Given the description of an element on the screen output the (x, y) to click on. 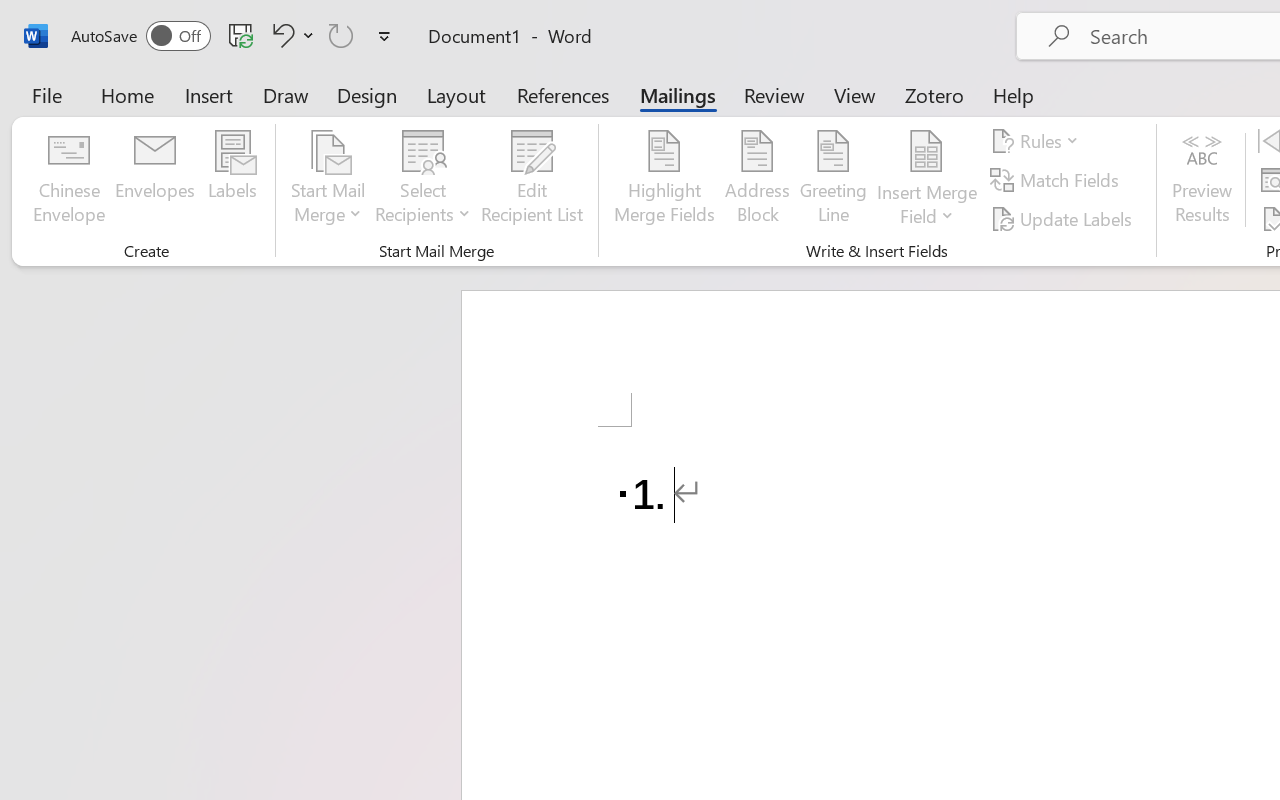
Start Mail Merge (328, 179)
Rules (1037, 141)
Insert Merge Field (927, 151)
Labels... (232, 179)
Chinese Envelope... (68, 179)
Highlight Merge Fields (664, 179)
Update Labels (1064, 218)
Preview Results (1202, 179)
